Given the description of an element on the screen output the (x, y) to click on. 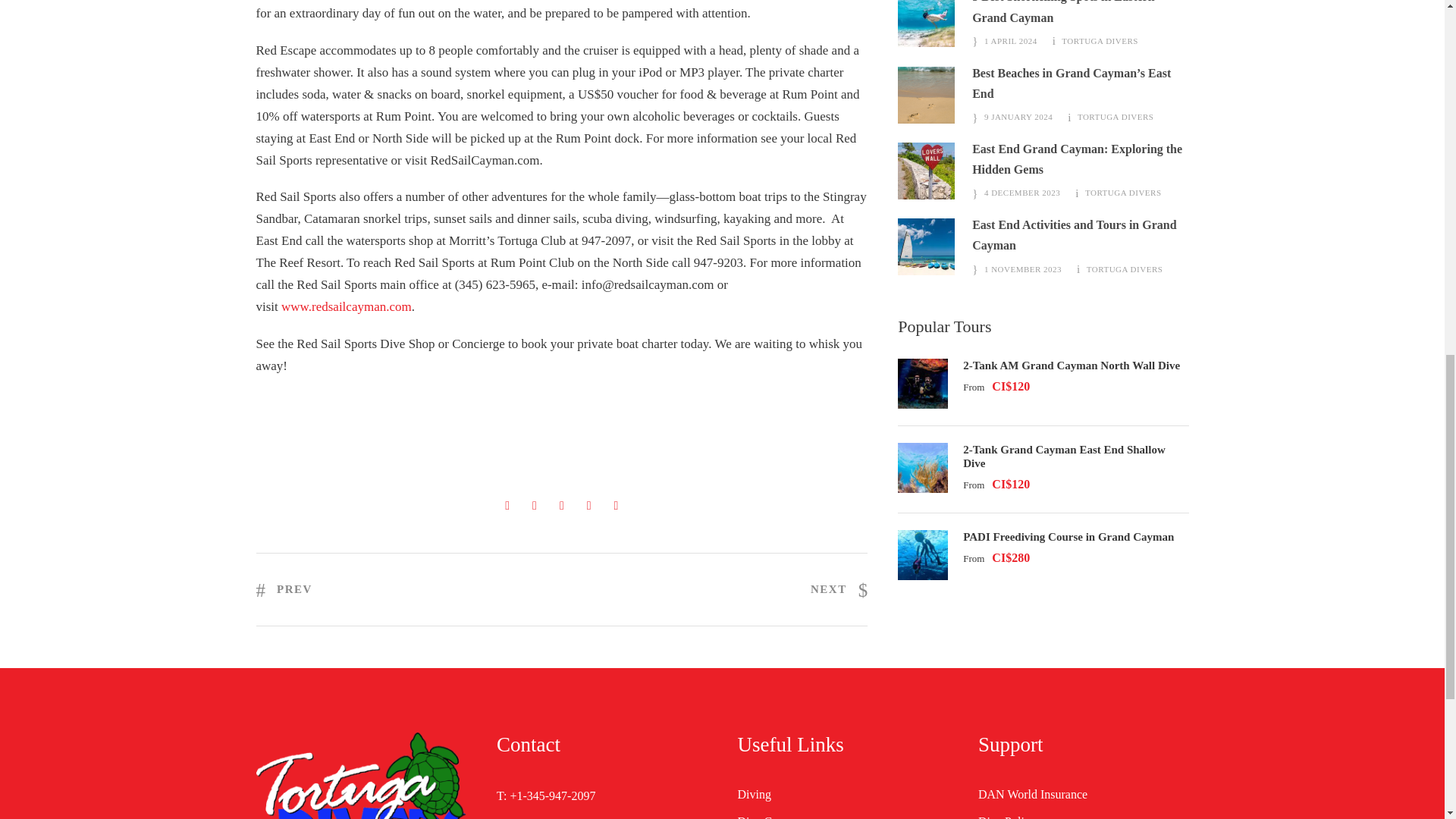
Lovers Wall (926, 170)
Posts by Tortuga Divers (1099, 40)
footprints-on-the-beach (926, 94)
Posts by Tortuga Divers (1115, 116)
Snorkeling (926, 23)
